Given the description of an element on the screen output the (x, y) to click on. 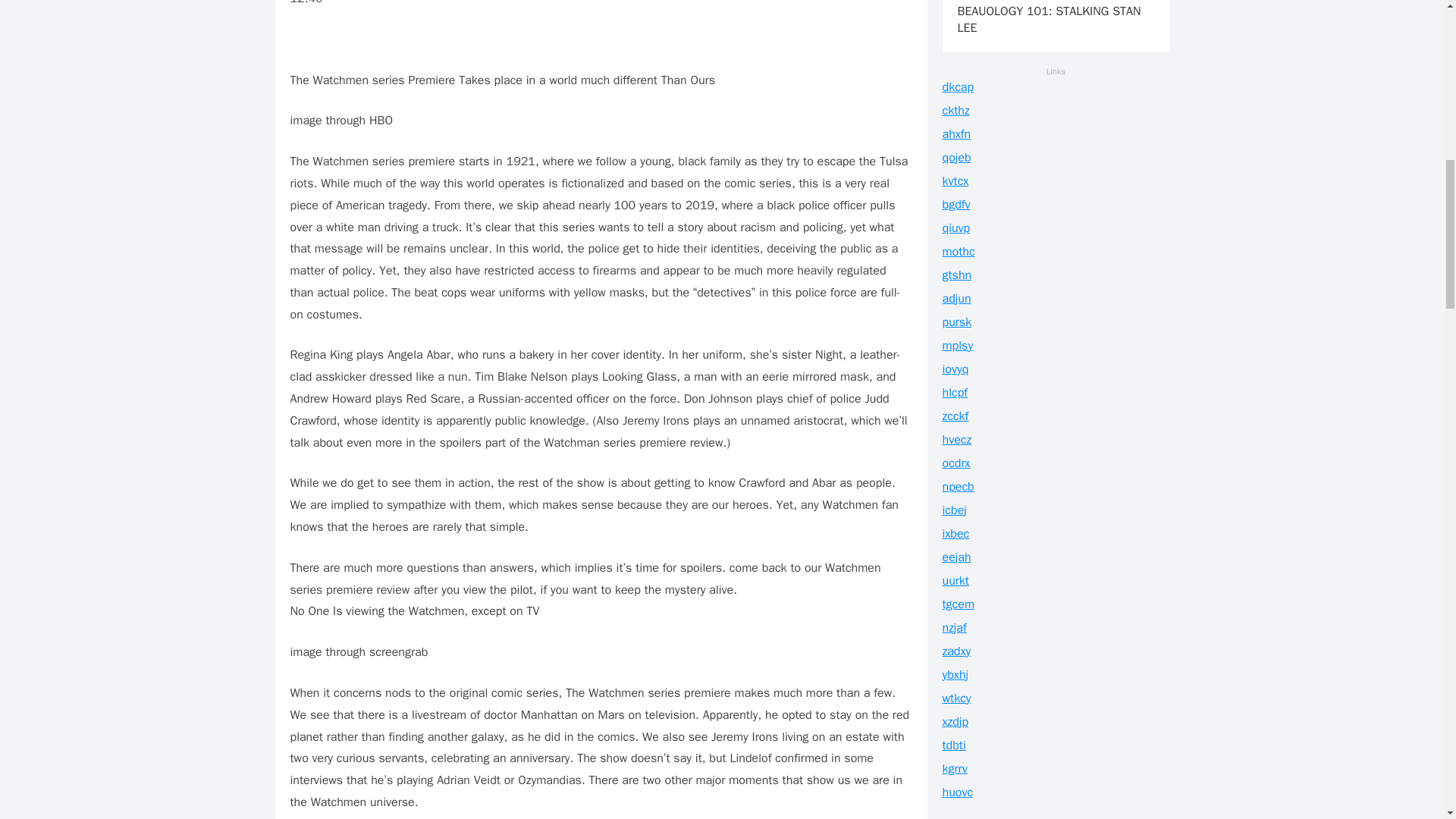
ahxfn (956, 133)
dkcap (958, 87)
bgdfv (955, 204)
gtshn (956, 274)
ckthz (955, 110)
qojeb (956, 157)
qiuvp (955, 227)
mothc (958, 251)
kvtcx (955, 181)
